Given the description of an element on the screen output the (x, y) to click on. 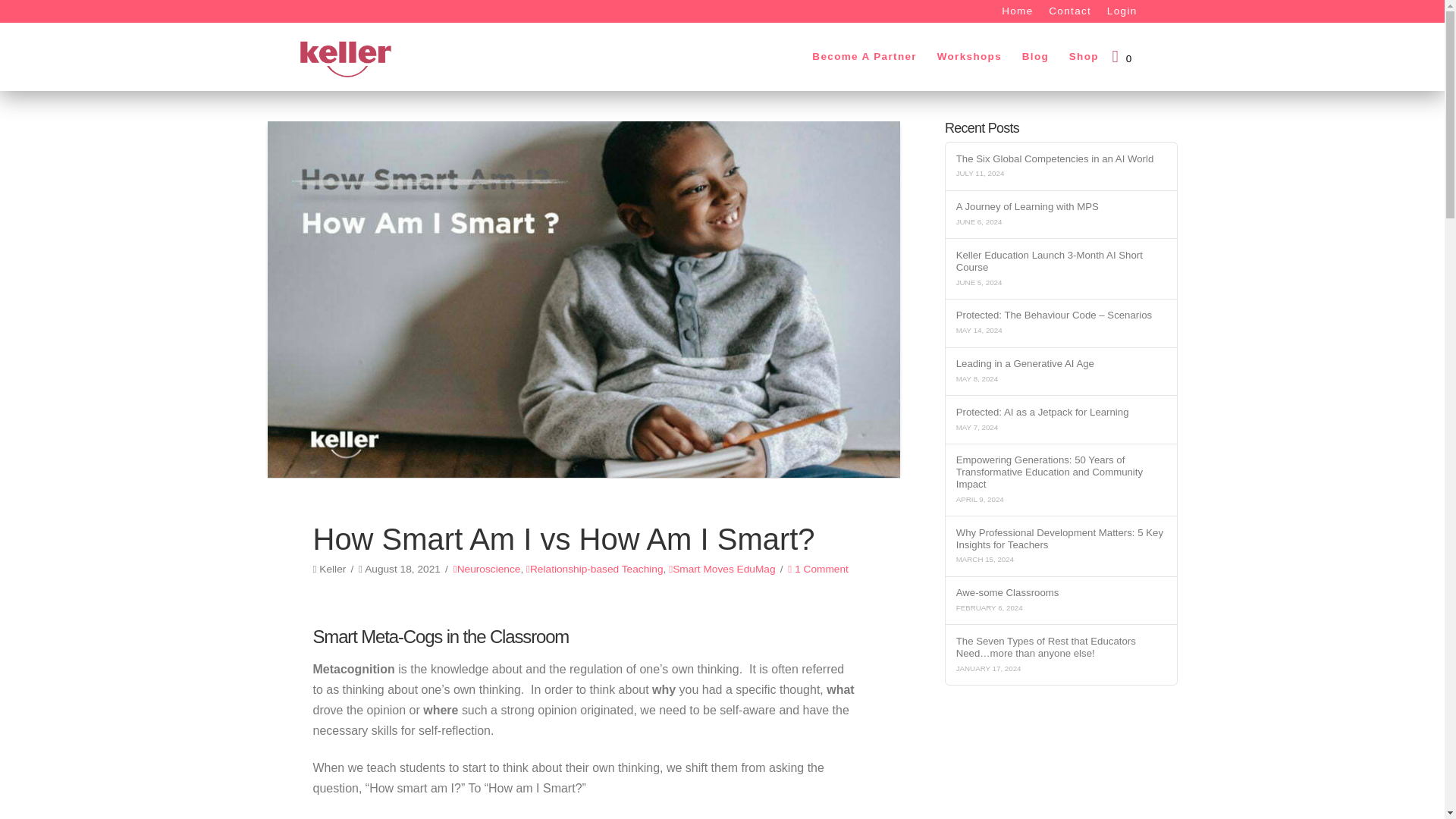
Contact (1070, 11)
1 Comment (817, 568)
A Journey of Learning with MPS (1061, 206)
Leading in a Generative AI Age (1061, 363)
Smart Moves EduMag (721, 568)
The Six Global Competencies in an AI World (1061, 159)
Workshops (968, 57)
Relationship-based Teaching (594, 568)
Protected: AI as a Jetpack for Learning (1061, 412)
Shop (1083, 57)
Blog (1034, 57)
Home (1016, 11)
Neuroscience (486, 568)
Become A Partner (864, 57)
